Given the description of an element on the screen output the (x, y) to click on. 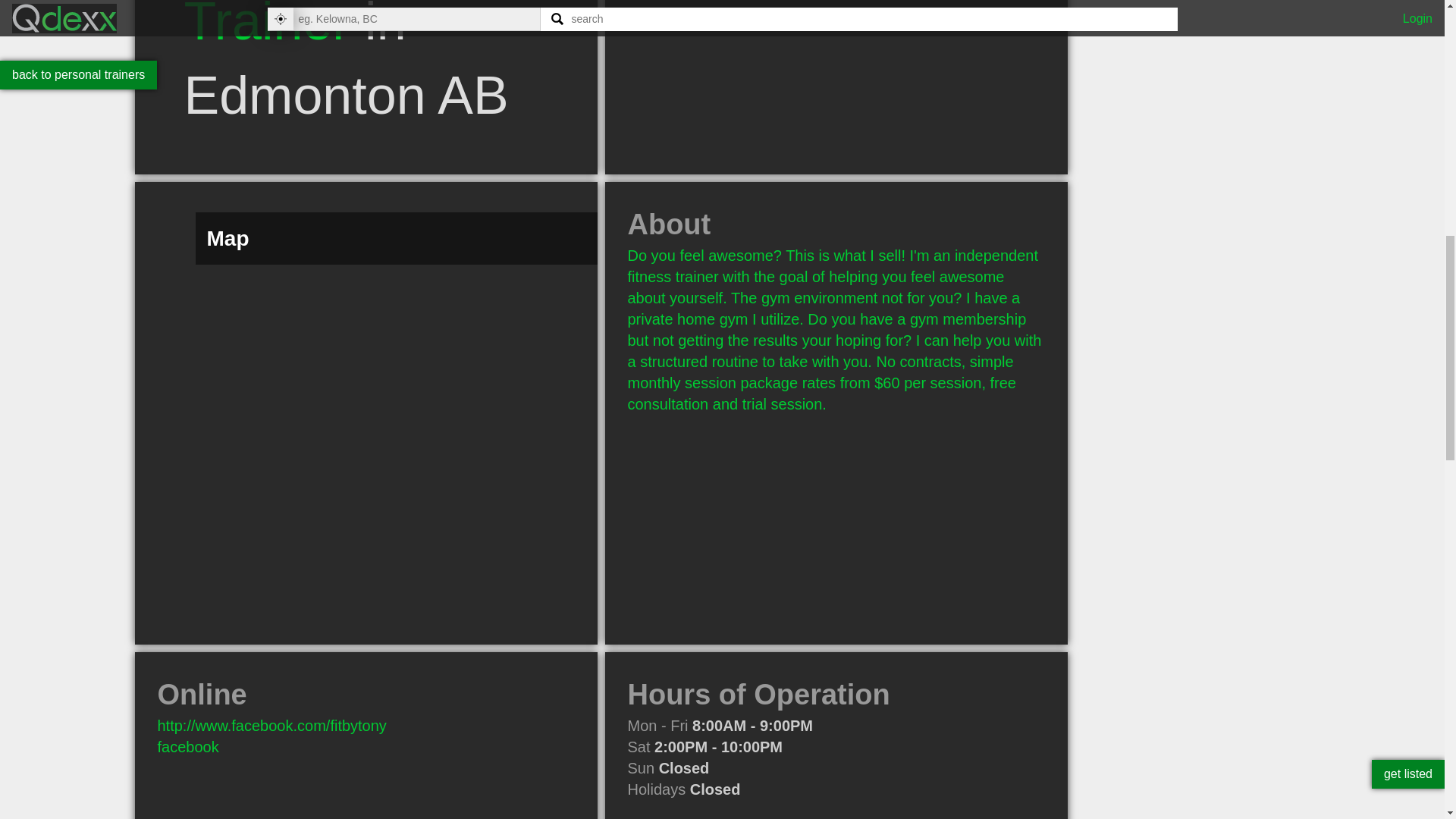
facebook (188, 746)
Map (365, 640)
